Given the description of an element on the screen output the (x, y) to click on. 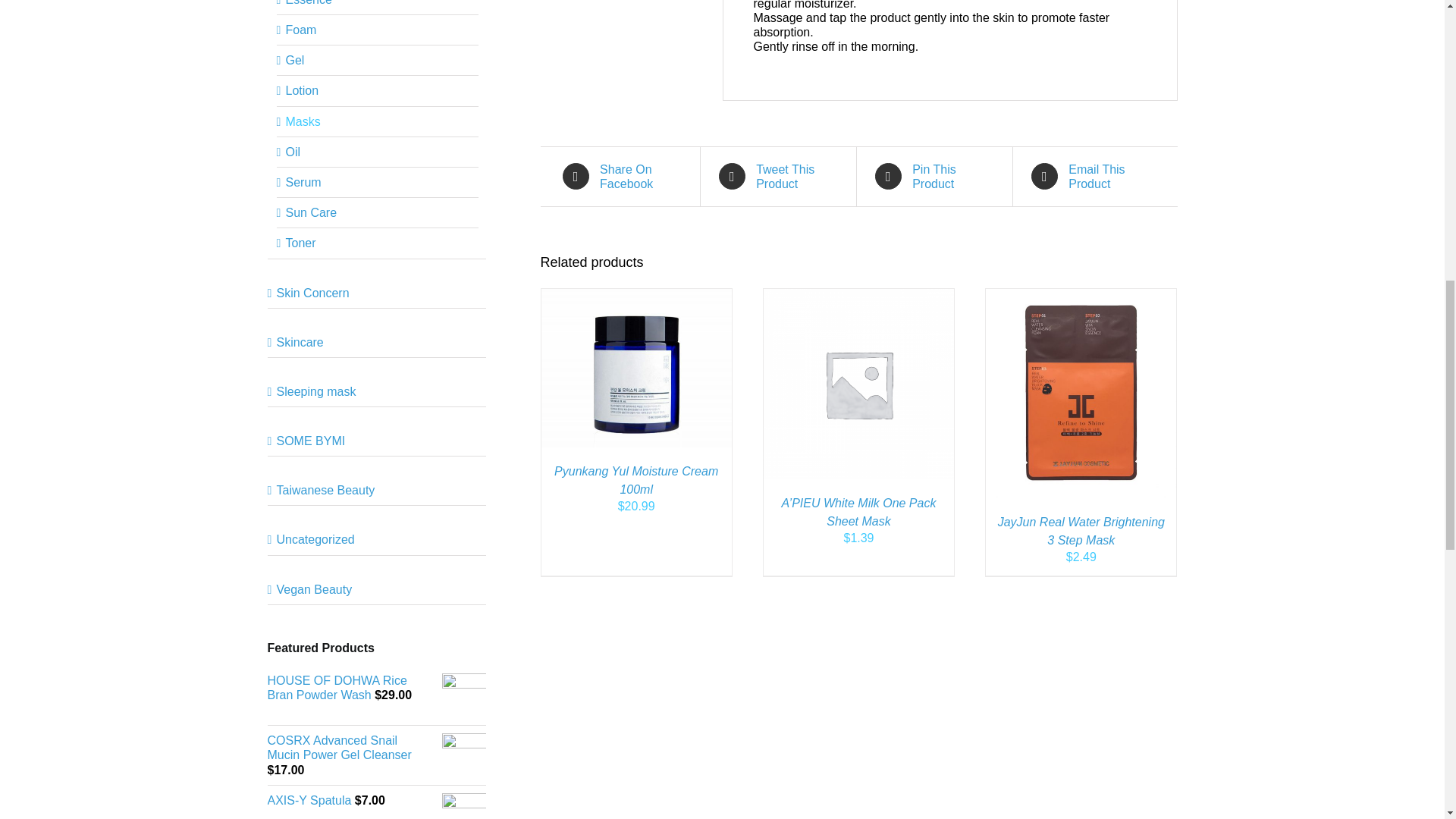
Pin This Product (936, 176)
Share On Facebook (623, 176)
Tweet This Product (781, 176)
Pyunkang Yul Moisture Cream 100ml (635, 480)
Email This Product (1093, 176)
